Given the description of an element on the screen output the (x, y) to click on. 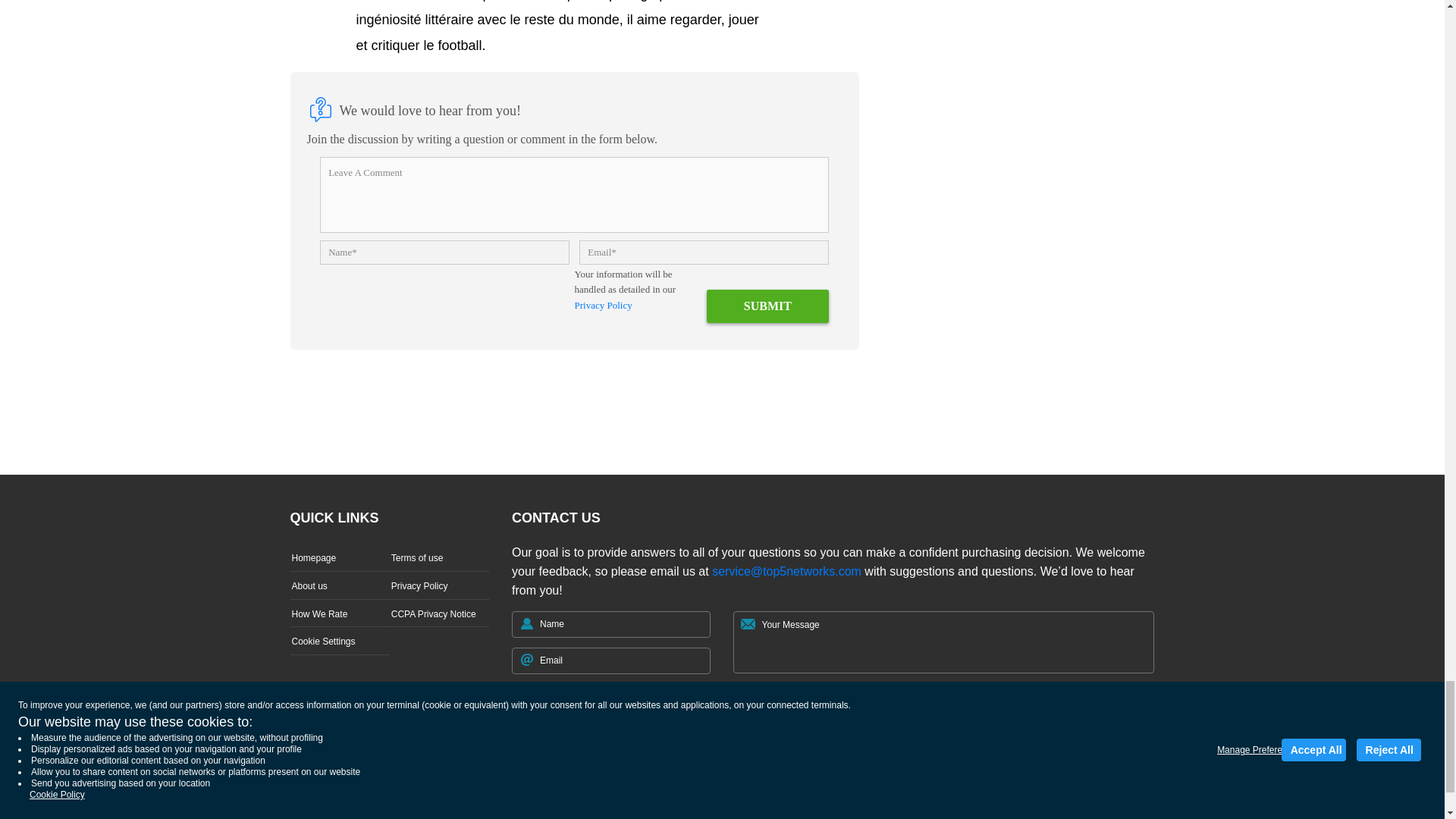
Submit (767, 305)
